Given the description of an element on the screen output the (x, y) to click on. 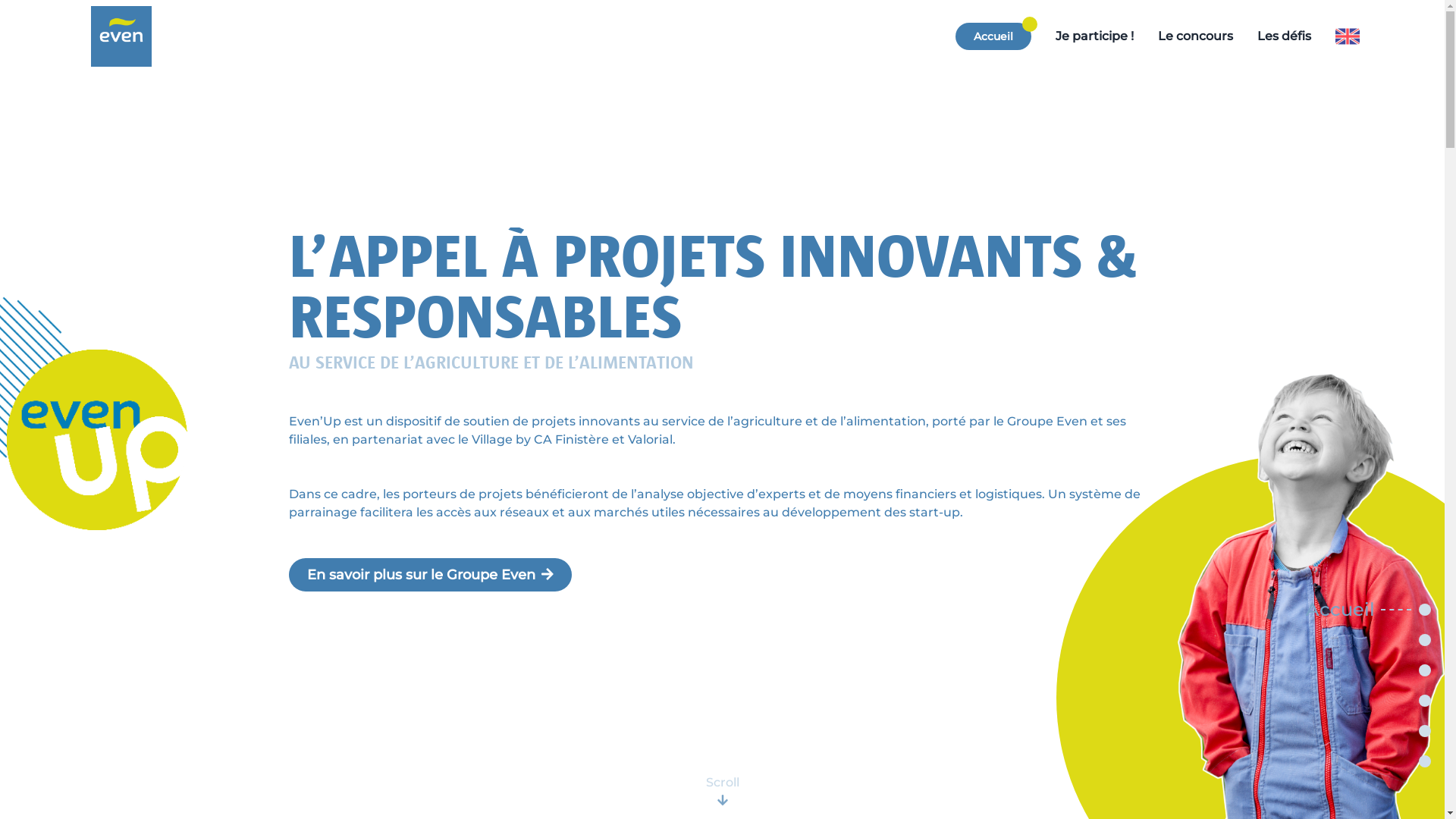
Je participe ! Element type: text (1094, 36)
Accueil Element type: text (993, 36)
En savoir plus sur le Groupe Even Element type: text (429, 574)
Le concours Element type: text (1195, 36)
